Given the description of an element on the screen output the (x, y) to click on. 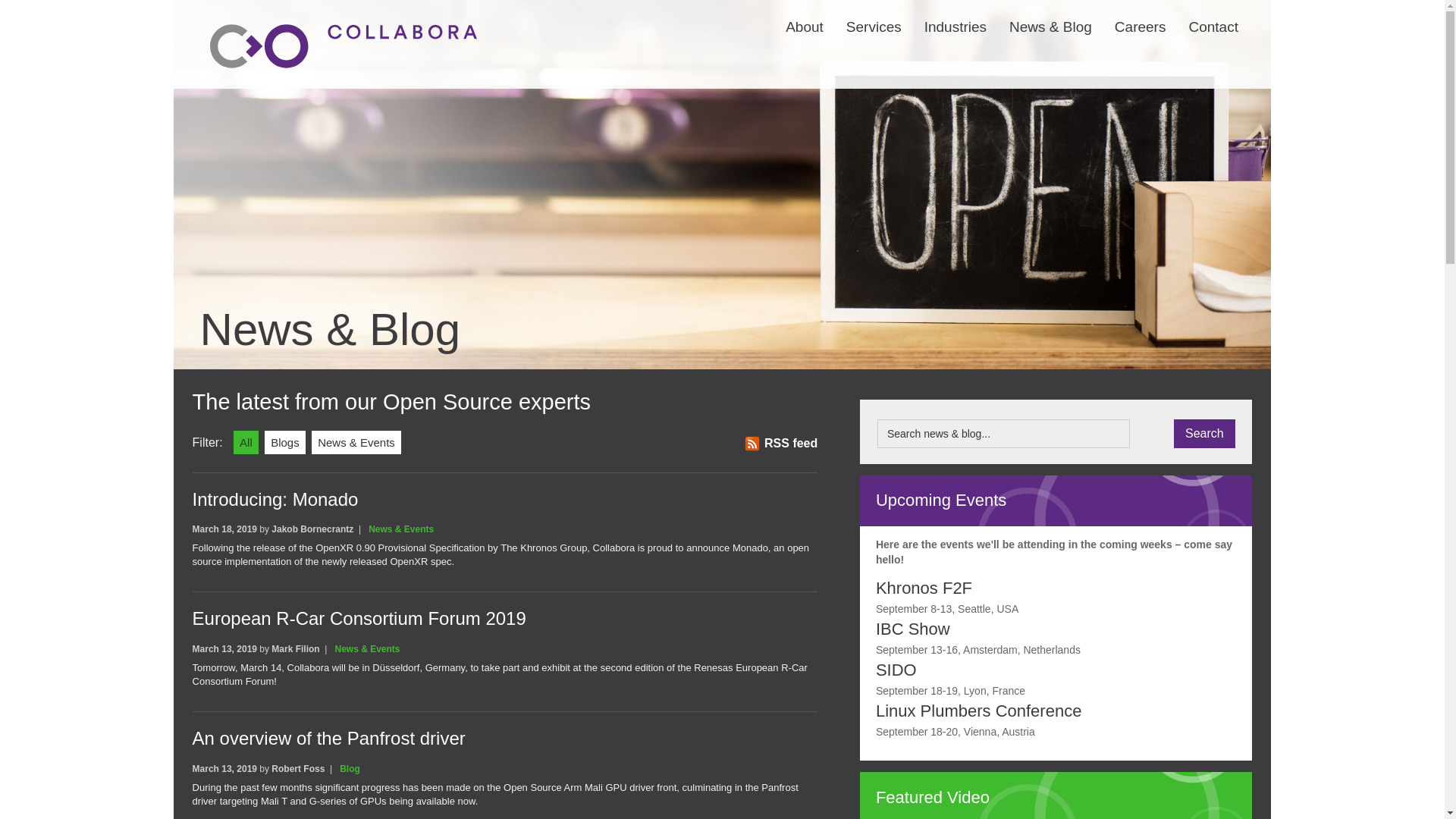
Navigate to the About page (793, 17)
Navigate to the Services page (862, 17)
Careers (1129, 17)
Services (862, 17)
Introducing: Monado (275, 498)
RSS feed (780, 442)
Blogs (284, 442)
Navigate to the Industries page (944, 17)
Search (1203, 433)
All (245, 442)
